Given the description of an element on the screen output the (x, y) to click on. 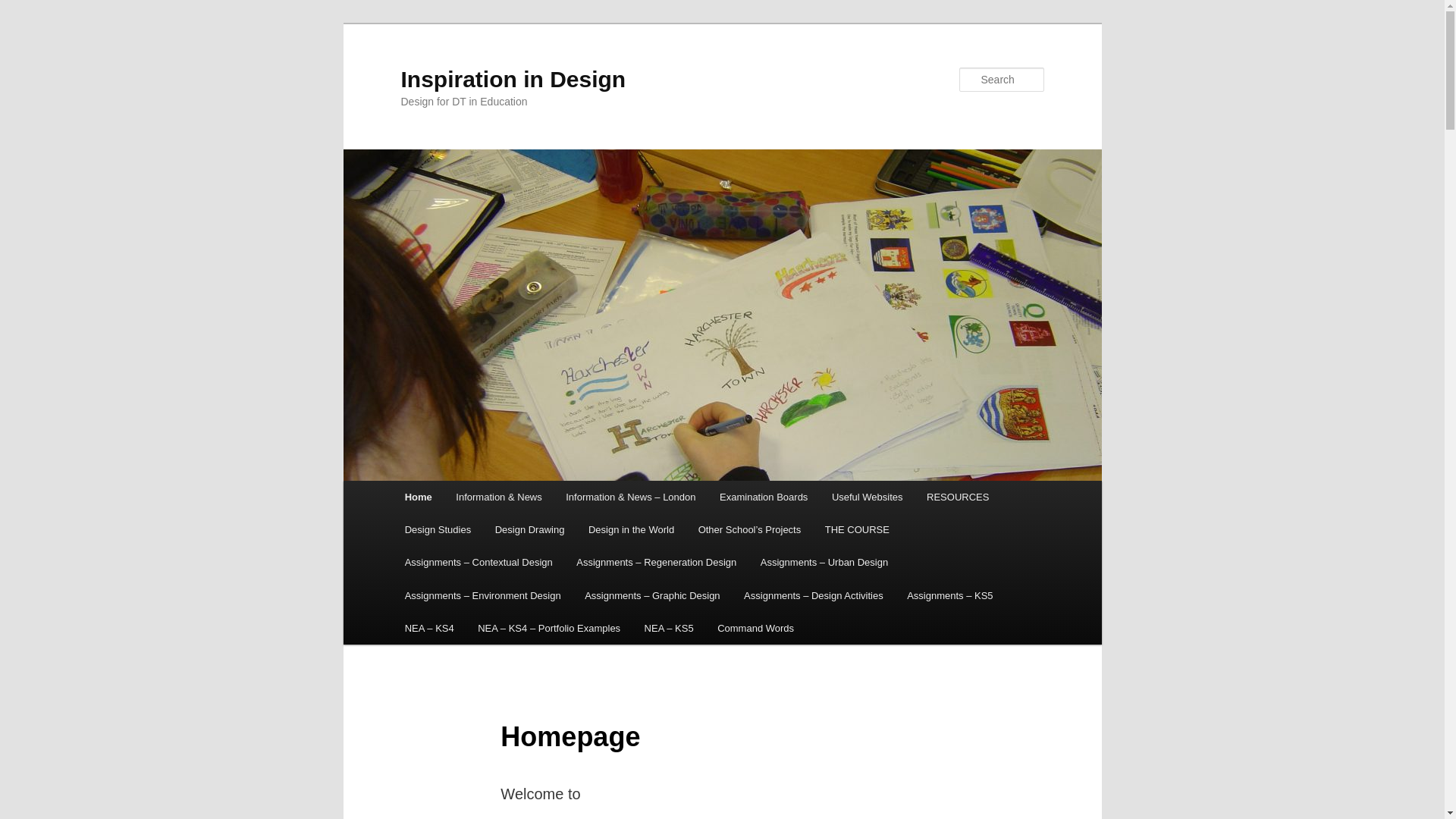
Inspiration in Design (513, 78)
Useful Websites (866, 496)
Home (418, 496)
Search (24, 8)
Examination Boards (763, 496)
